Given the description of an element on the screen output the (x, y) to click on. 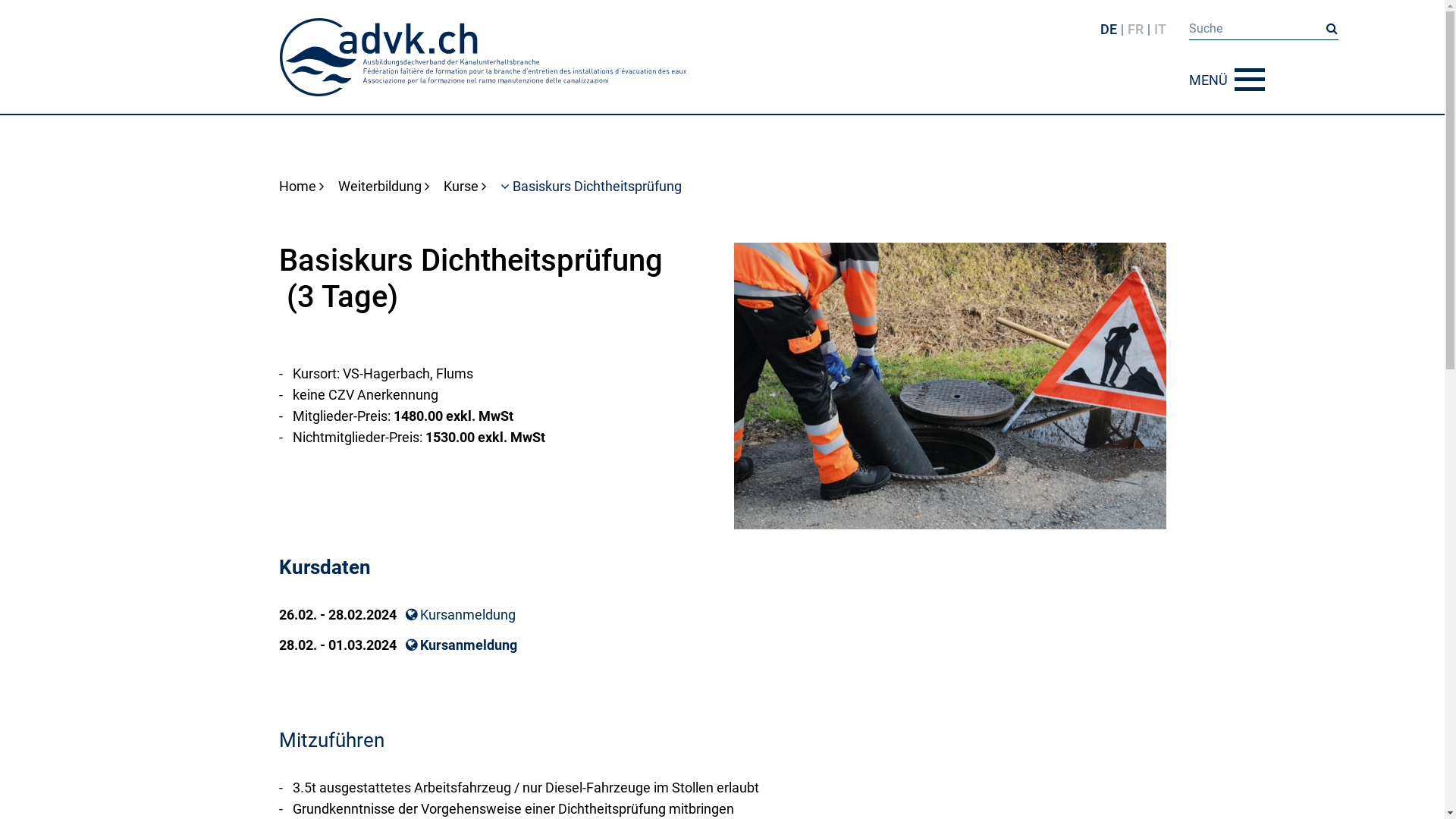
Home Element type: text (301, 186)
 Kursanmeldung Element type: text (459, 614)
  Element type: text (411, 644)
Kursanmeldung Element type: text (468, 644)
Kurse Element type: text (463, 186)
DE Element type: text (1107, 29)
Weiterbildung Element type: text (383, 186)
IT Element type: text (1160, 29)
FR Element type: text (1134, 29)
DP-Kurs.JPG Element type: hover (950, 385)
